Given the description of an element on the screen output the (x, y) to click on. 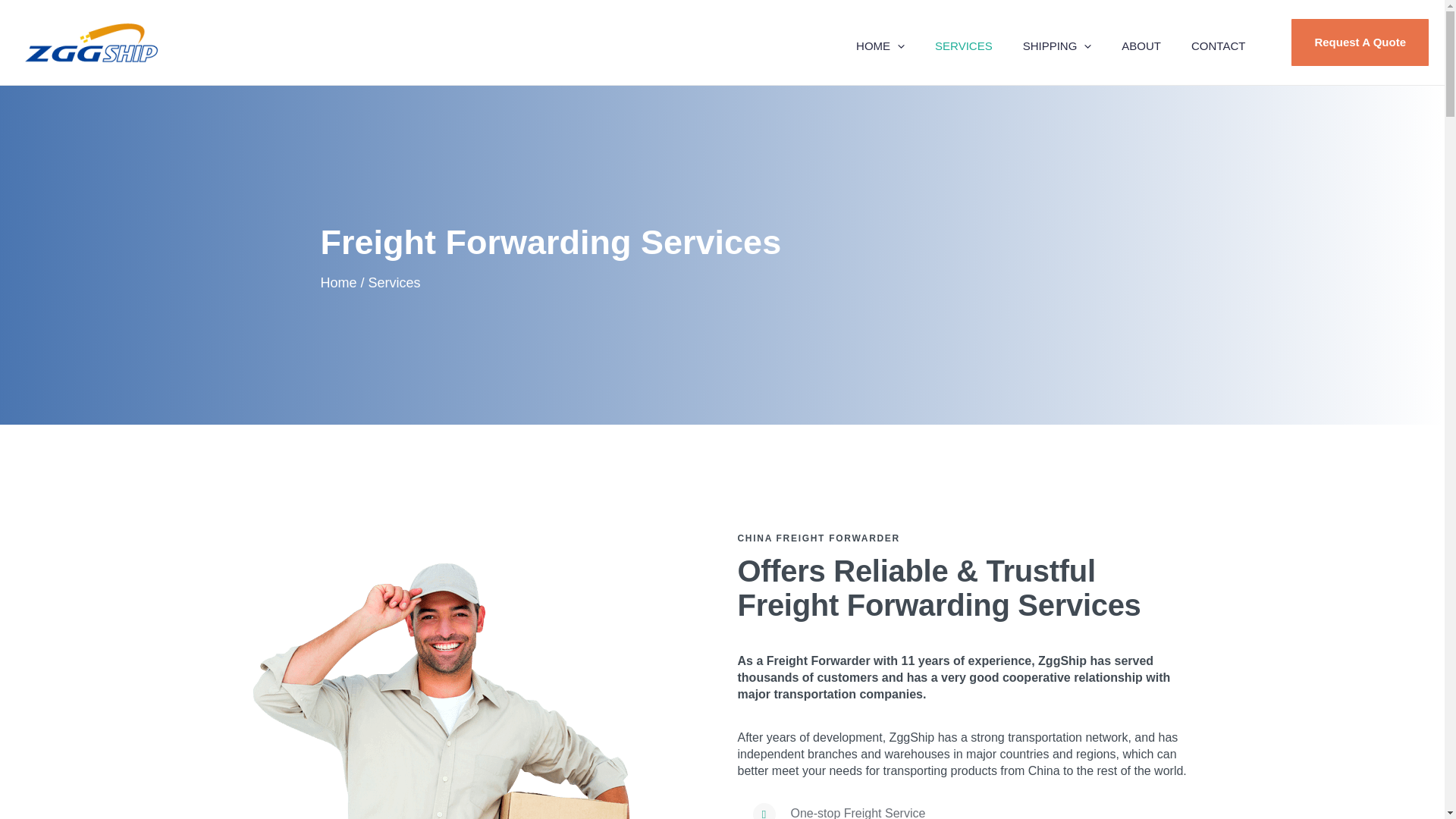
courier-man (442, 690)
HOME (880, 42)
SHIPPING (1056, 42)
SERVICES (963, 42)
ABOUT (1141, 42)
CONTACT (1218, 42)
Request A Quote (1352, 42)
